Given the description of an element on the screen output the (x, y) to click on. 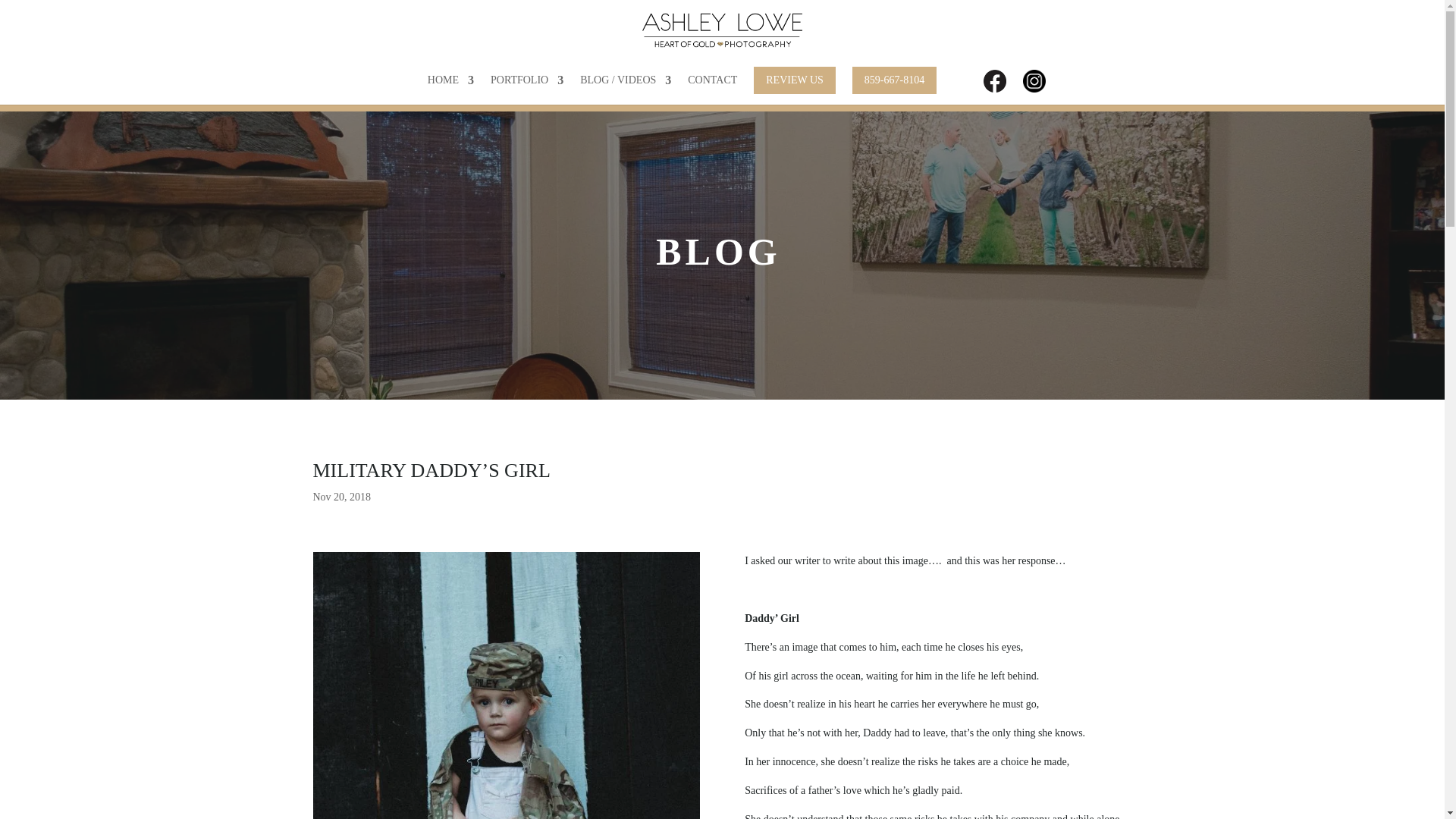
REVIEW US (794, 85)
859-667-8104 (893, 85)
CONTACT (711, 85)
HOME (451, 85)
PORTFOLIO (526, 85)
